Given the description of an element on the screen output the (x, y) to click on. 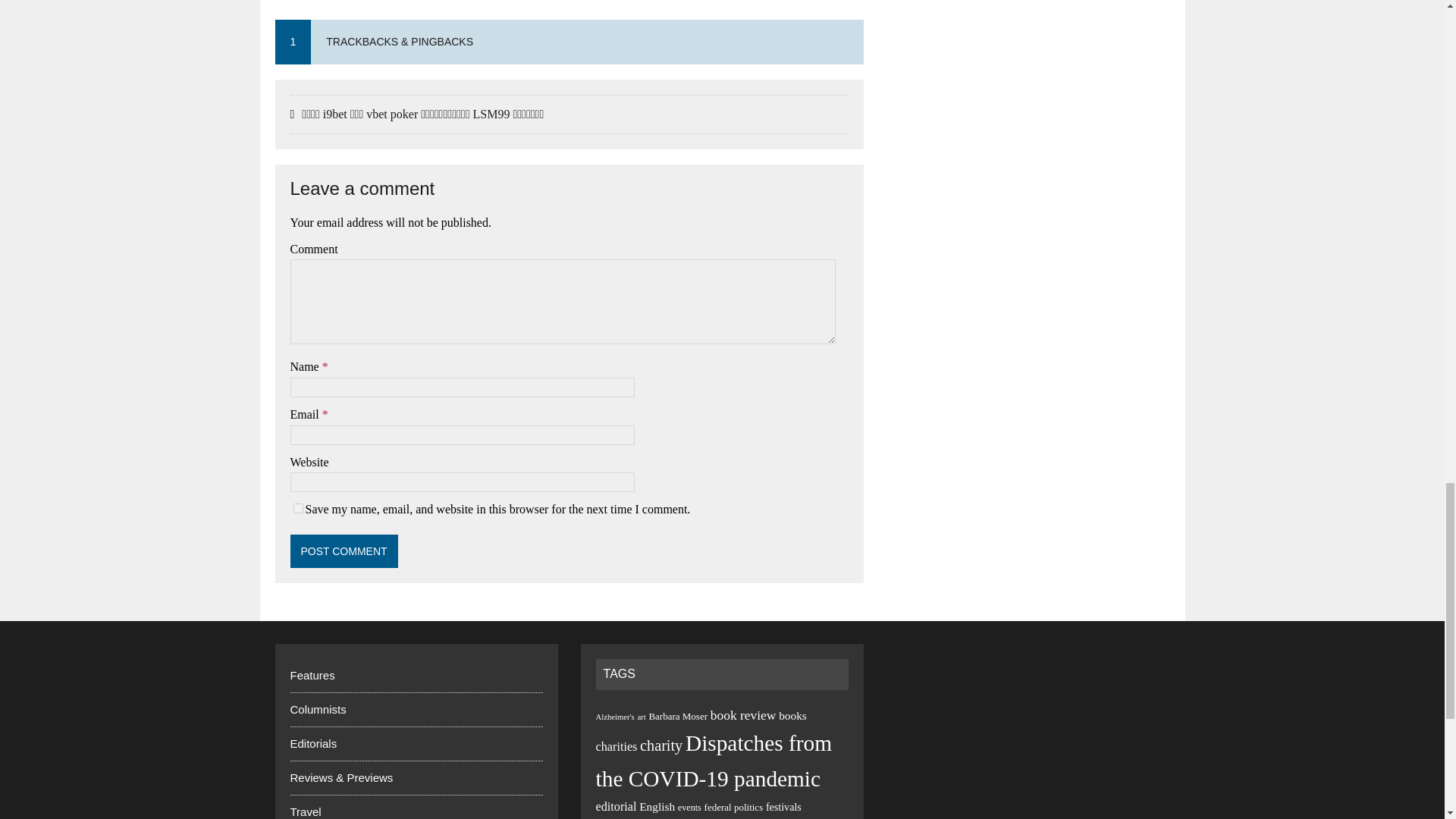
Post Comment (343, 551)
yes (297, 508)
